Given the description of an element on the screen output the (x, y) to click on. 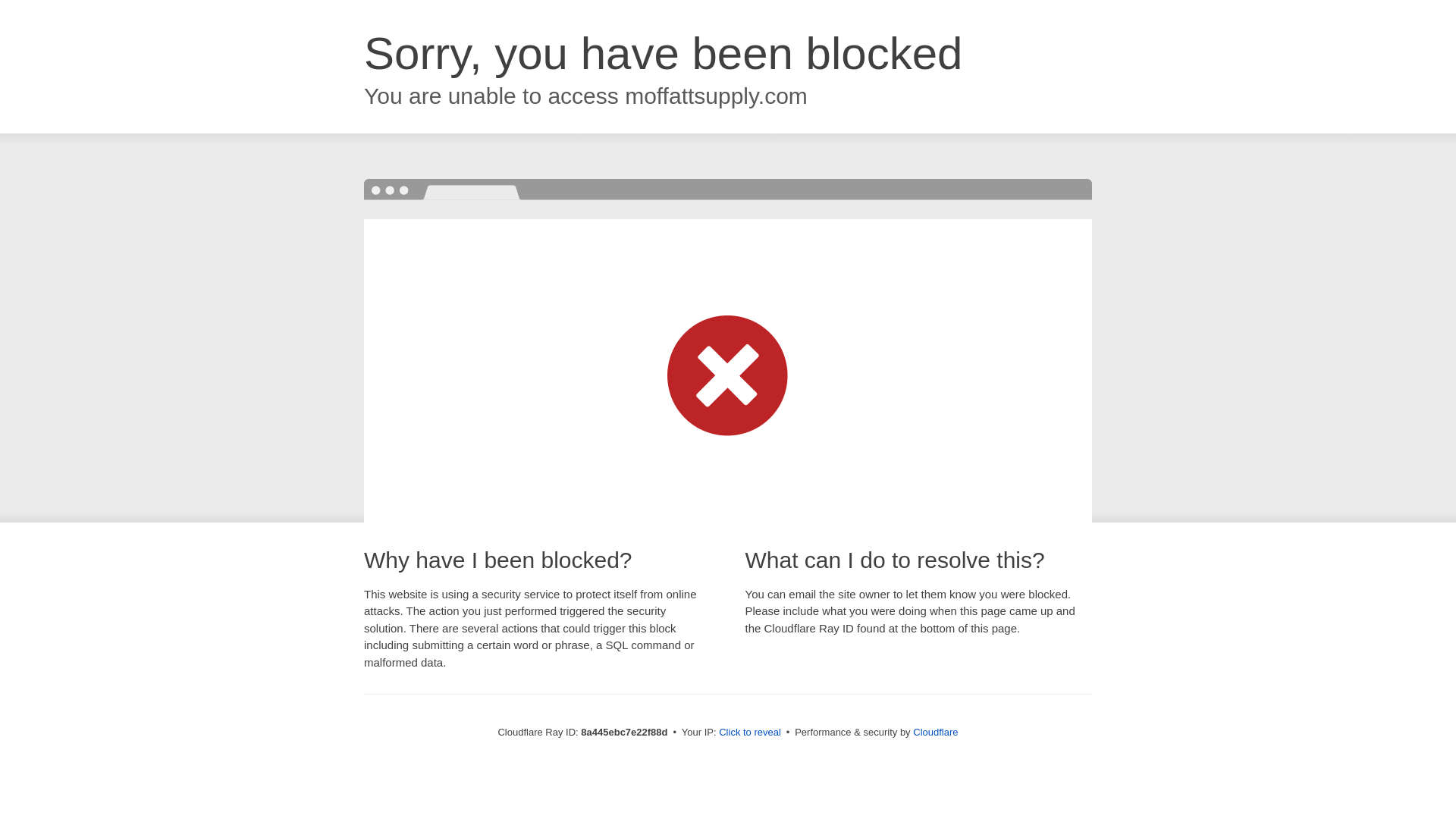
Click to reveal (749, 732)
Cloudflare (935, 731)
